Given the description of an element on the screen output the (x, y) to click on. 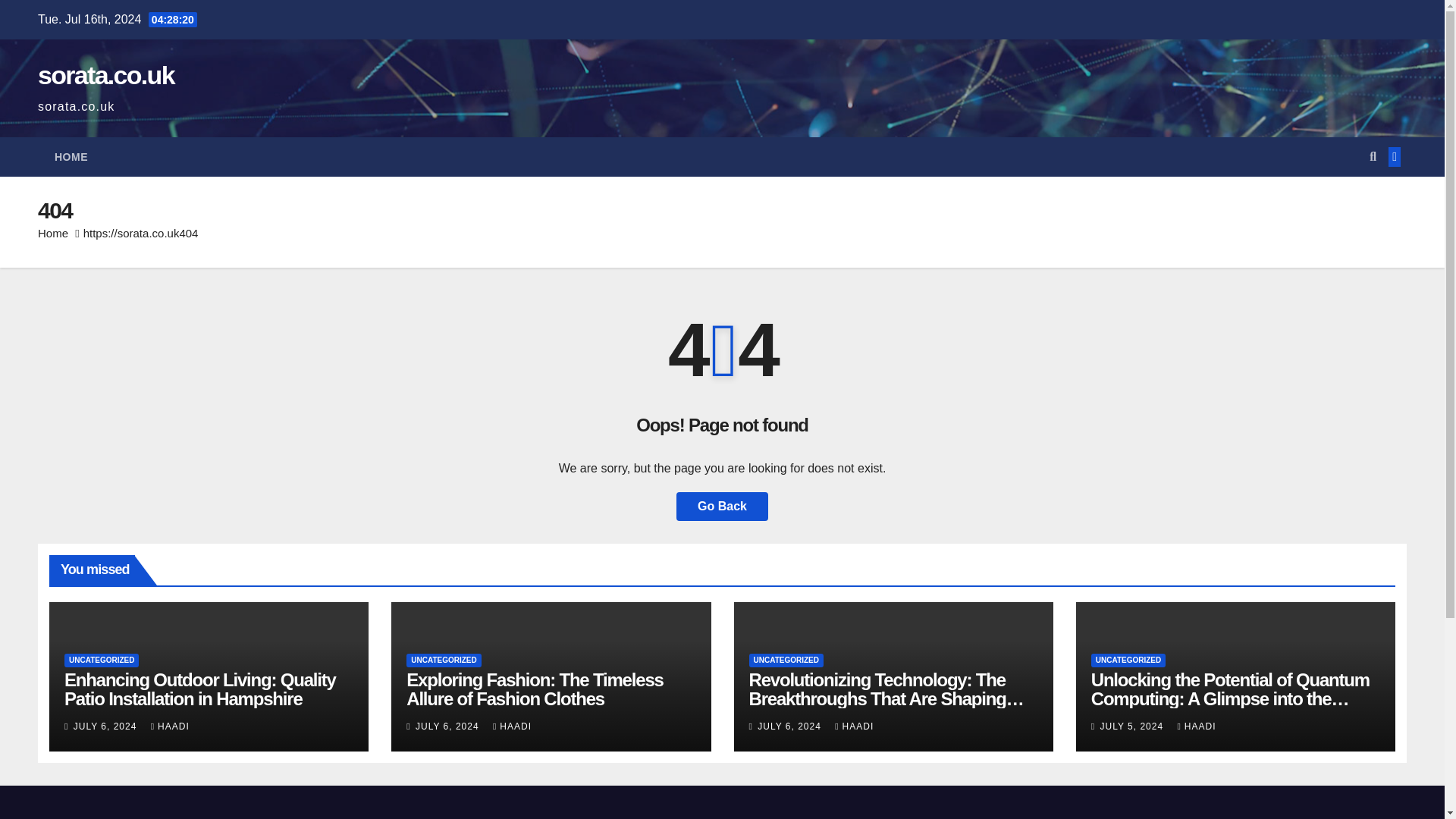
Home (70, 156)
JULY 5, 2024 (1132, 726)
HOME (70, 156)
Home (52, 232)
HAADI (853, 726)
HAADI (512, 726)
sorata.co.uk (105, 74)
UNCATEGORIZED (101, 660)
JULY 6, 2024 (790, 726)
UNCATEGORIZED (443, 660)
UNCATEGORIZED (786, 660)
JULY 6, 2024 (447, 726)
